Given the description of an element on the screen output the (x, y) to click on. 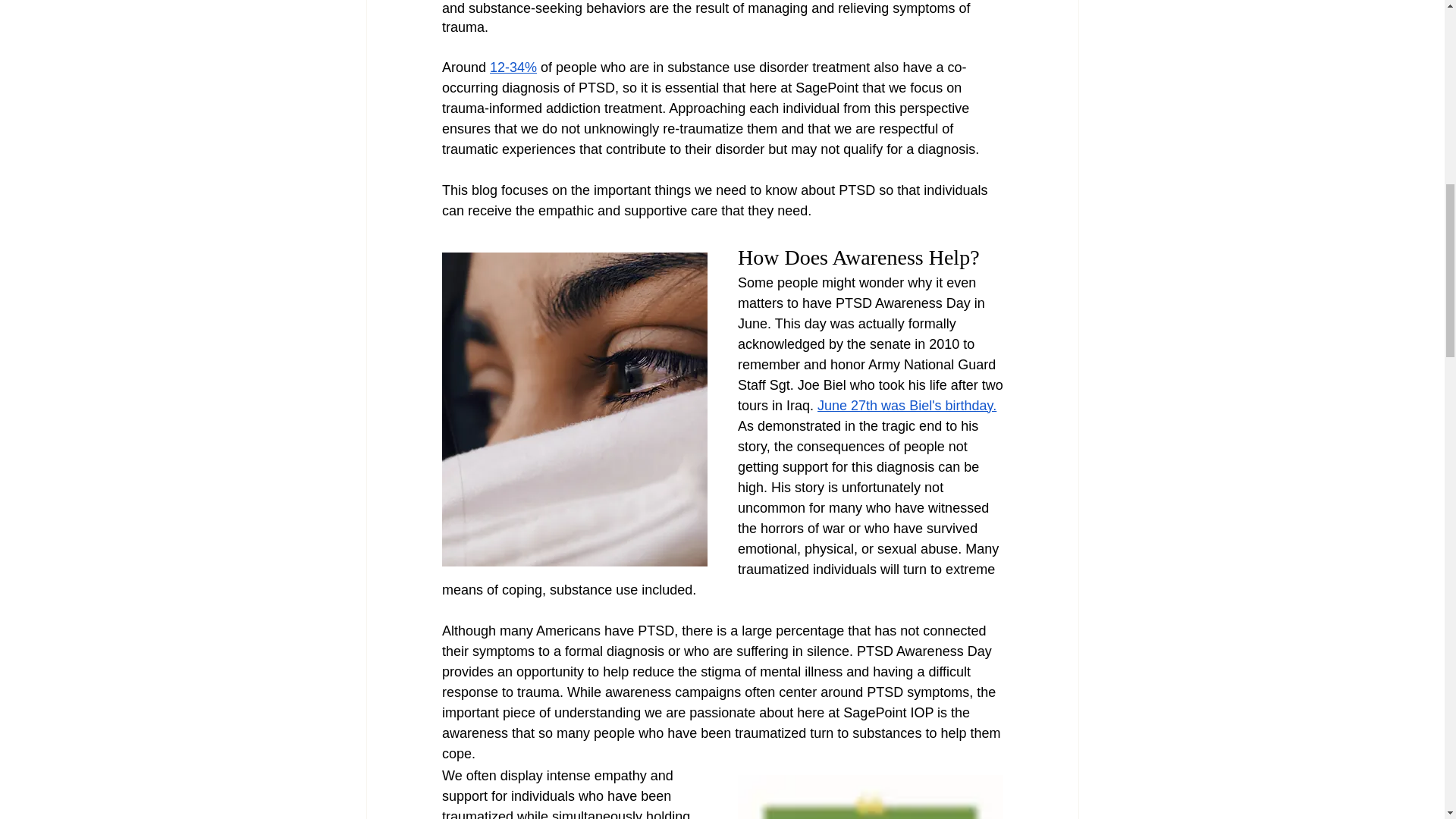
June 27th was Biel's birthday. (905, 405)
